Given the description of an element on the screen output the (x, y) to click on. 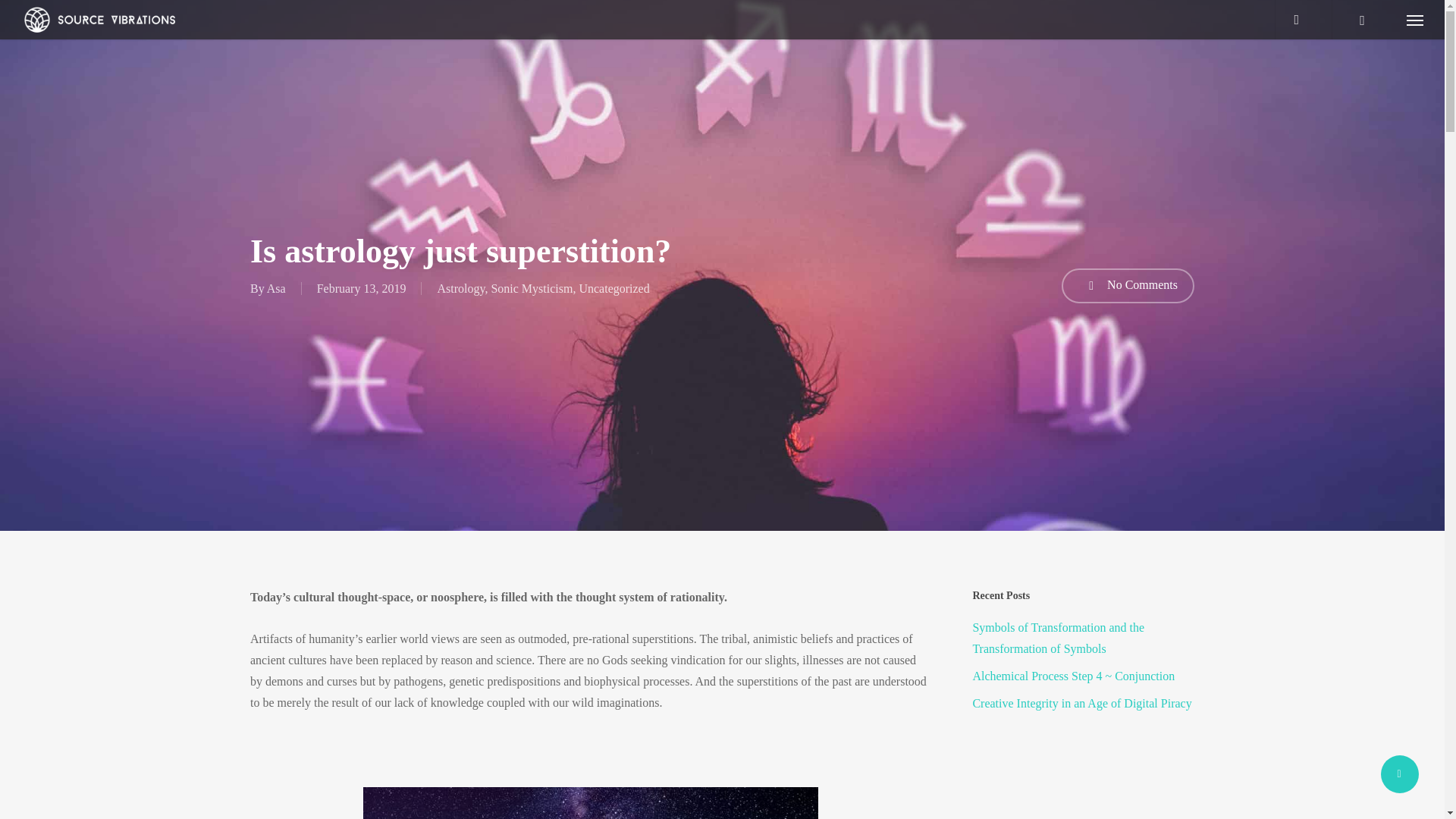
No Comments (1127, 285)
Menu (1414, 19)
Terms of Use (765, 694)
Sonic Mysticism (531, 287)
search (1303, 19)
Download Troubleshooting Guide (337, 585)
Posts by Asa (275, 287)
Creative Integrity in an Age of Digital Piracy (1082, 703)
Astrology (460, 287)
About (266, 635)
Asa (275, 287)
FAQs (264, 610)
Brainwave Entrainment Overview (339, 660)
Uncategorized (613, 287)
Symbols of Transformation and the Transformation of Symbols (1082, 638)
